Given the description of an element on the screen output the (x, y) to click on. 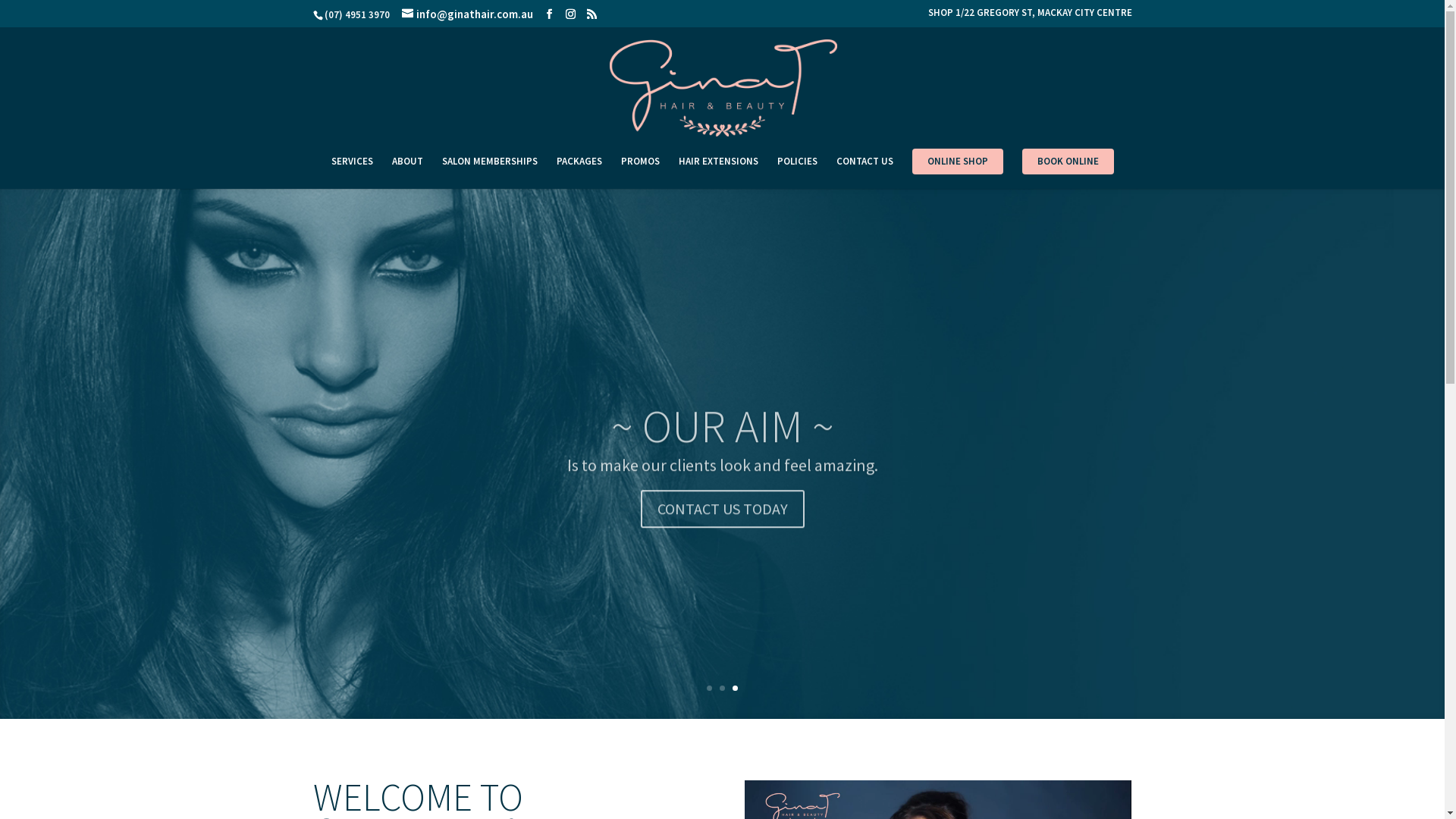
SERVICES Element type: text (351, 172)
2 Element type: text (721, 687)
HAIR EXTENSIONS Element type: text (717, 172)
POLICIES Element type: text (796, 172)
1 Element type: text (709, 687)
ONLINE SHOP Element type: text (956, 161)
3 Element type: text (734, 687)
BOOK ONLINE Element type: text (1067, 161)
CONTACT US TODAY Element type: text (721, 548)
CONTACT US Element type: text (863, 172)
PROMOS Element type: text (639, 172)
SALON MEMBERSHIPS Element type: text (488, 172)
ABOUT Element type: text (406, 172)
~ OUR AIM ~ Element type: text (722, 466)
info@ginathair.com.au Element type: text (467, 13)
SHOP 1/22 GREGORY ST, MACKAY CITY CENTRE Element type: text (1030, 16)
PACKAGES Element type: text (579, 172)
